Given the description of an element on the screen output the (x, y) to click on. 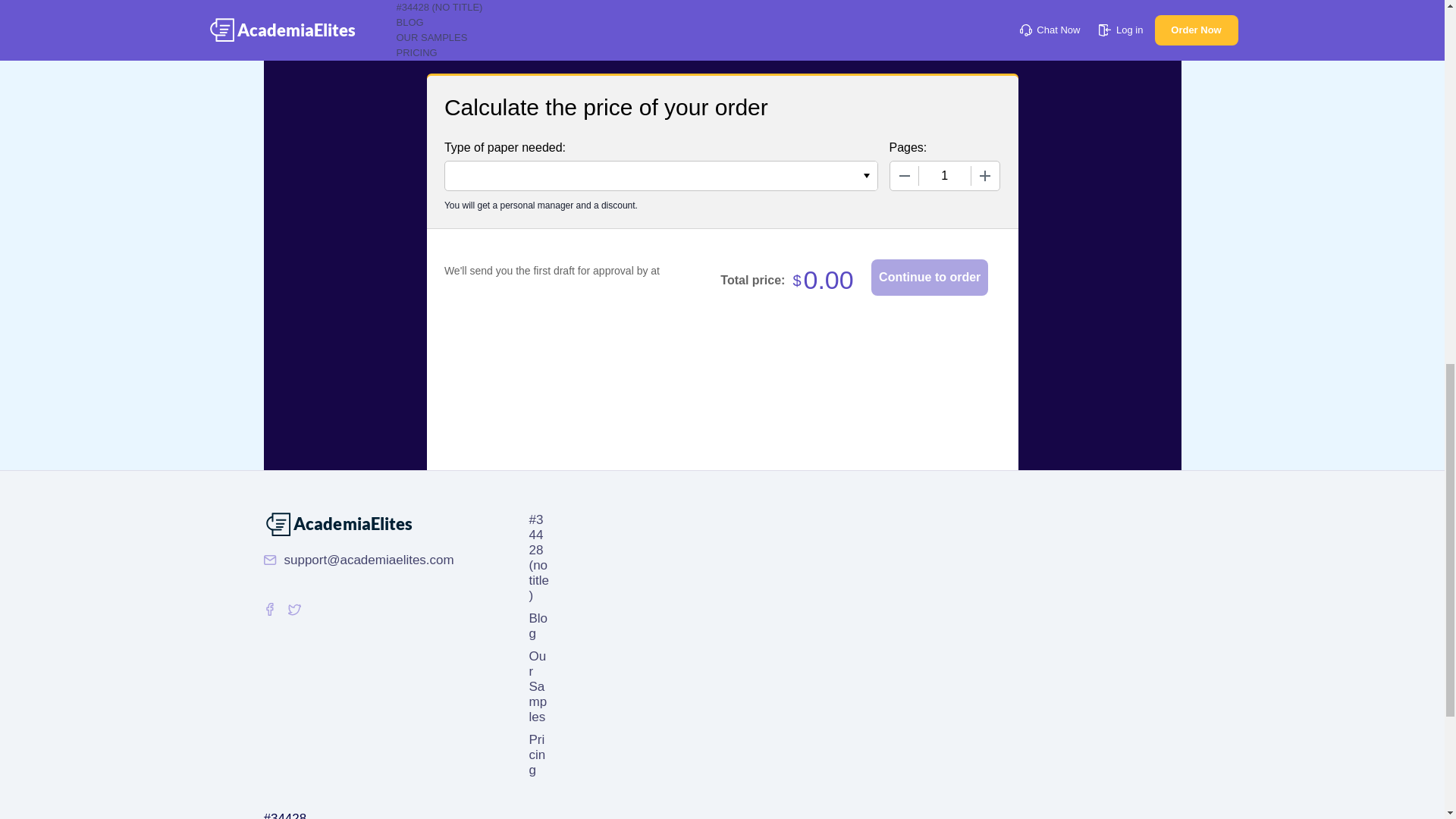
1 (944, 175)
Continue to order (929, 277)
Increase (984, 175)
Continue to Order (929, 277)
Decrease (903, 175)
